Given the description of an element on the screen output the (x, y) to click on. 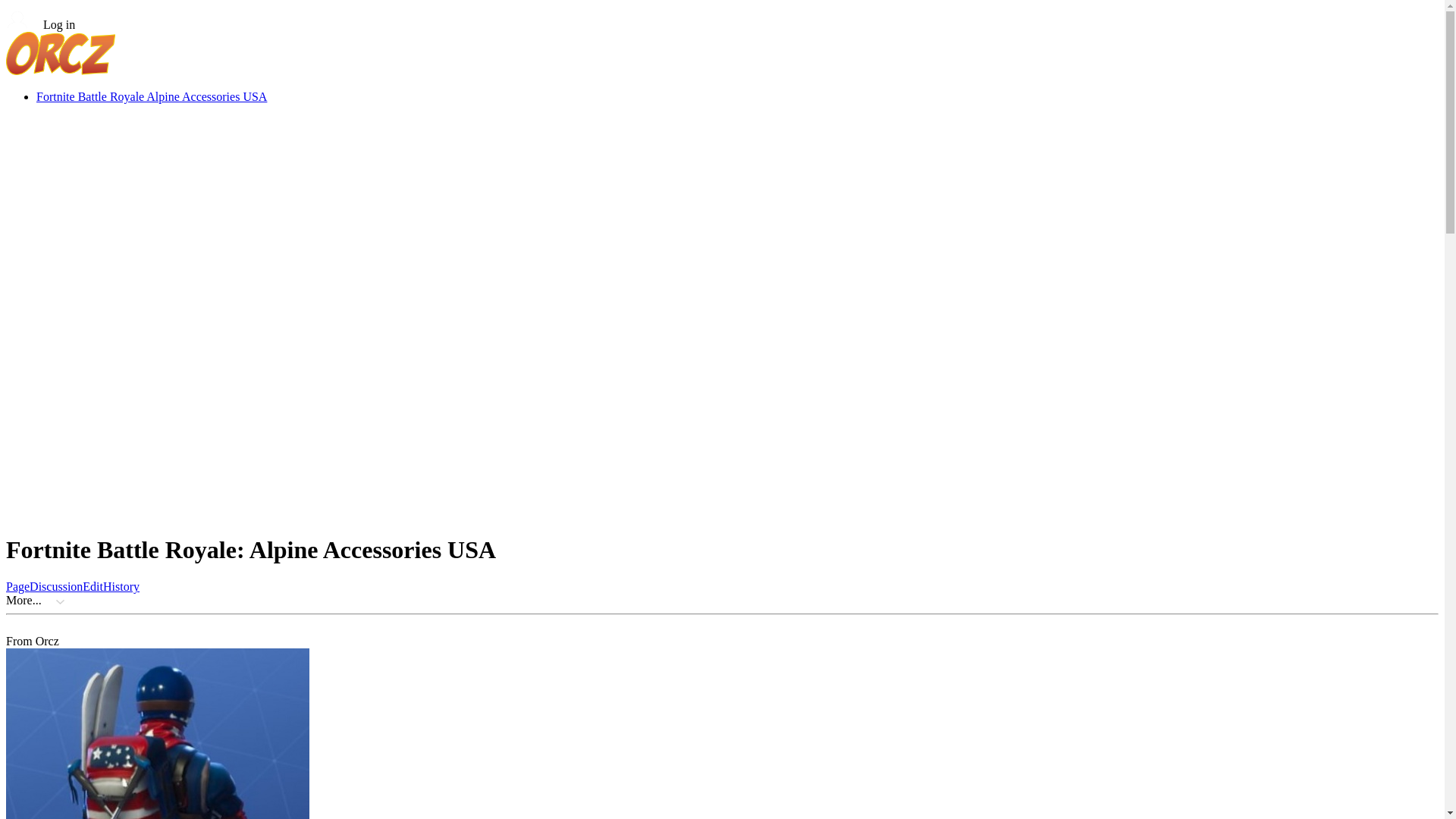
Discussion (55, 585)
Advertisement (460, 485)
Edit (92, 585)
Page (17, 585)
History (121, 585)
Log in (40, 24)
Fortnite Battle Royale Alpine Accessories USA (151, 96)
More... (23, 599)
